Given the description of an element on the screen output the (x, y) to click on. 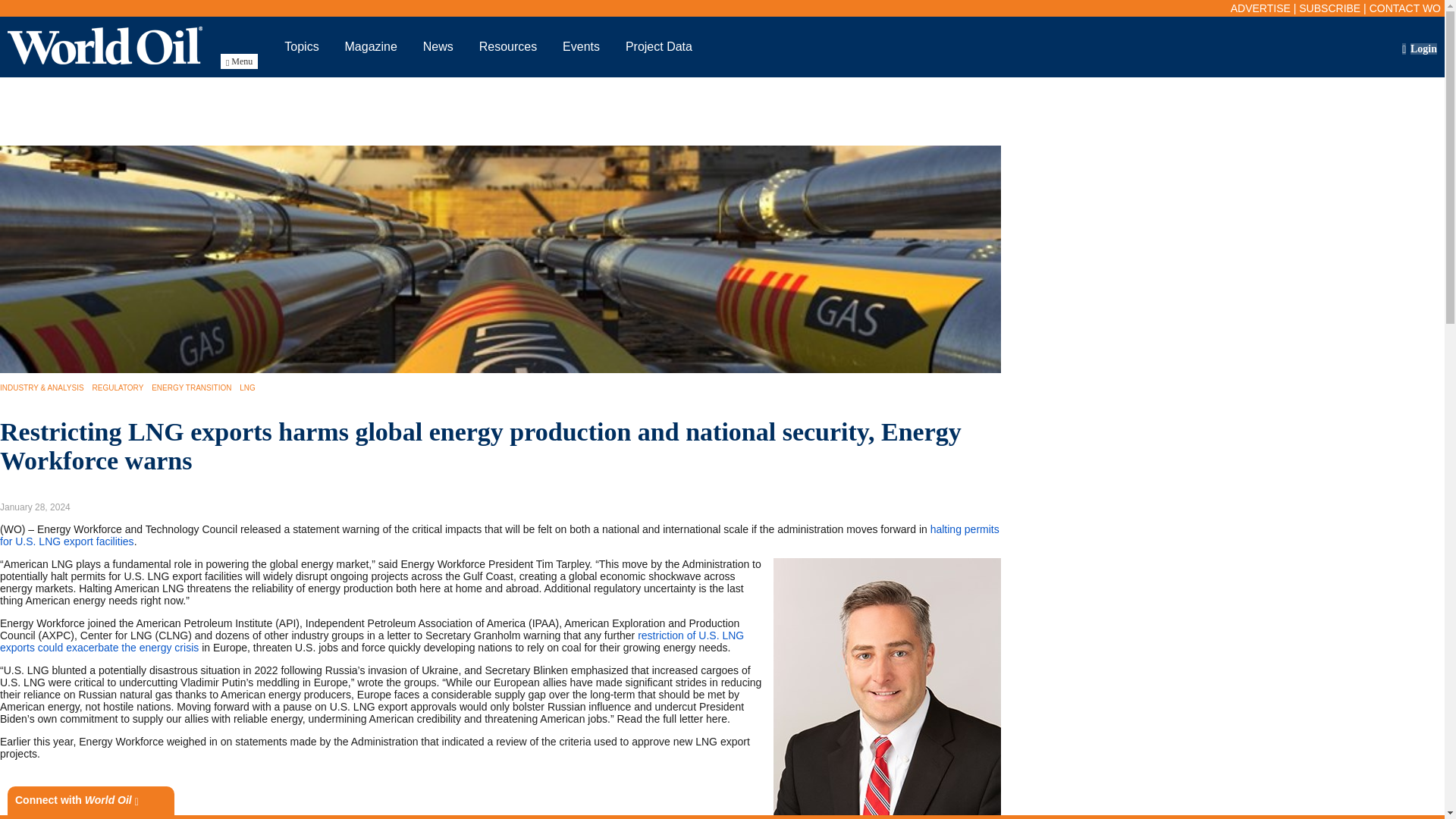
SUBSCRIBE (1328, 8)
3rd party ad content (722, 110)
Menu (239, 61)
CONTACT WO (1405, 8)
3rd party ad content (127, 794)
ADVERTISE (1260, 8)
Topics (300, 46)
